Given the description of an element on the screen output the (x, y) to click on. 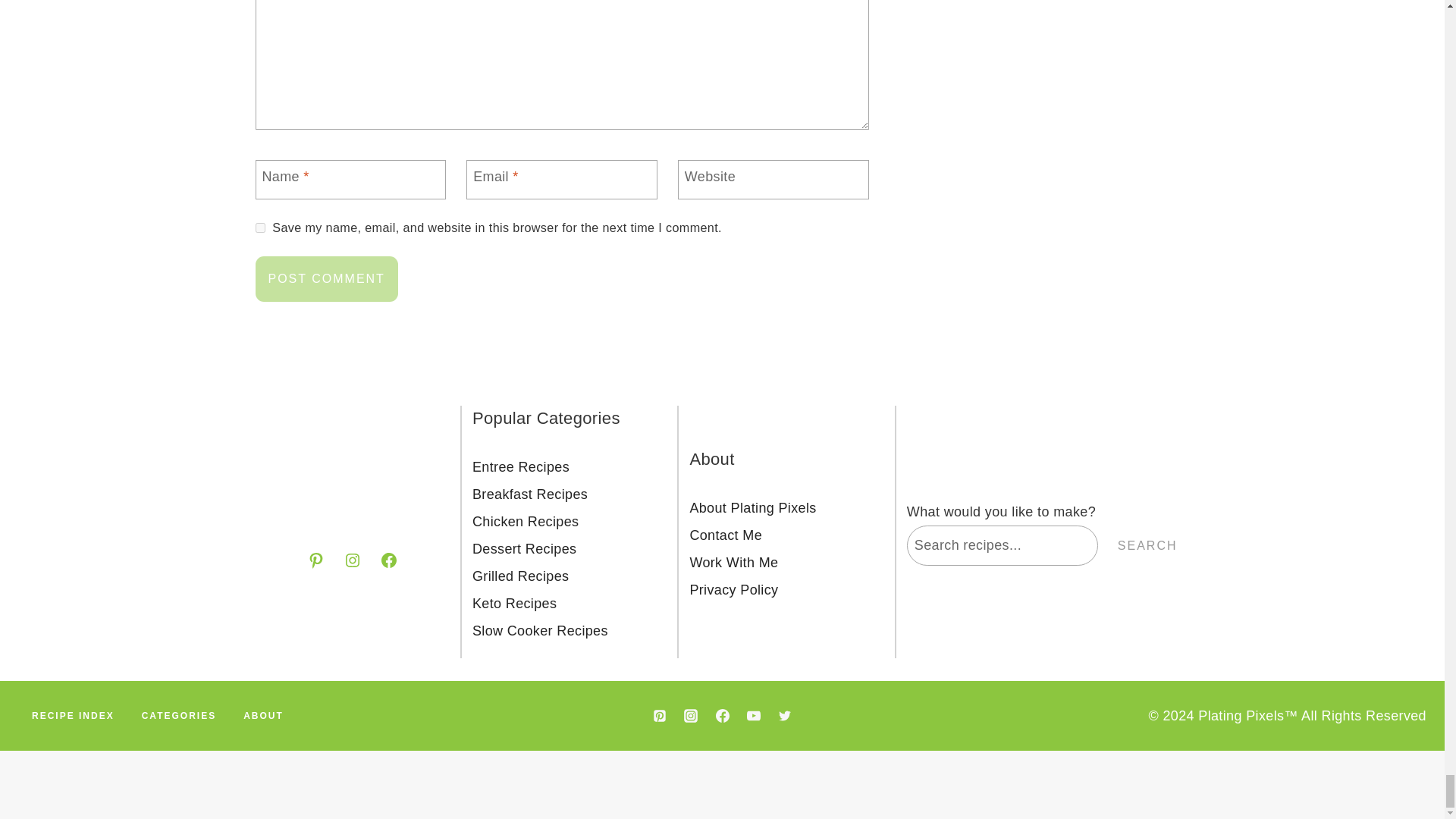
Post Comment (325, 279)
yes (259, 227)
